Given the description of an element on the screen output the (x, y) to click on. 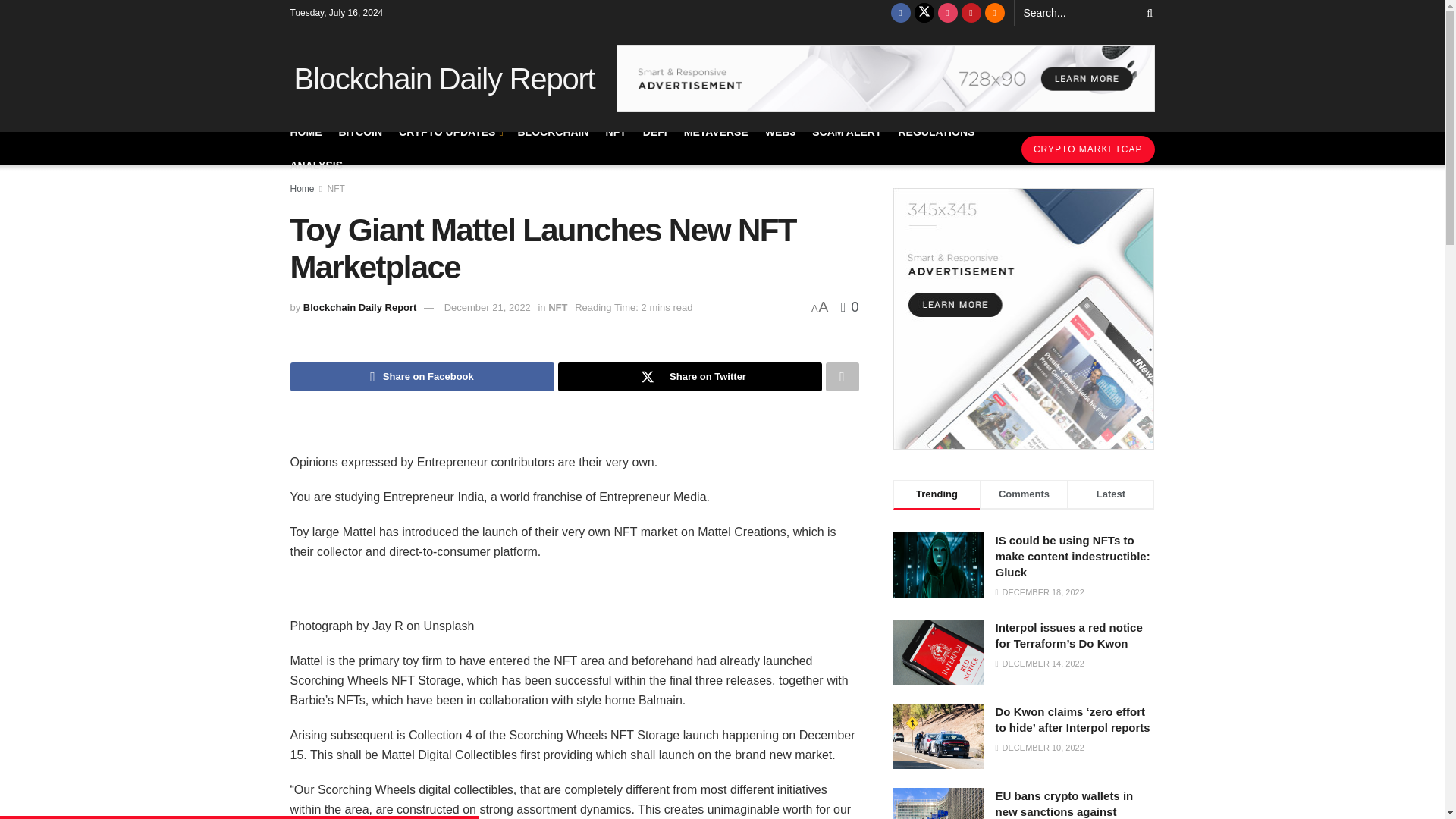
CRYPTO MARKETCAP (1088, 148)
REGULATIONS (936, 131)
CRYPTO UPDATES (449, 131)
SCAM ALERT (846, 131)
BITCOIN (359, 131)
IS could be using NFTs to make content indestructible: Gluck (938, 564)
METAVERSE (716, 131)
DEFI (654, 131)
Blockchain Daily Report (441, 78)
BLOCKCHAIN (552, 131)
WEB3 (779, 131)
HOME (305, 131)
ANALYSIS (315, 165)
EU bans crypto wallets in new sanctions against Russia (938, 803)
NFT (615, 131)
